Given the description of an element on the screen output the (x, y) to click on. 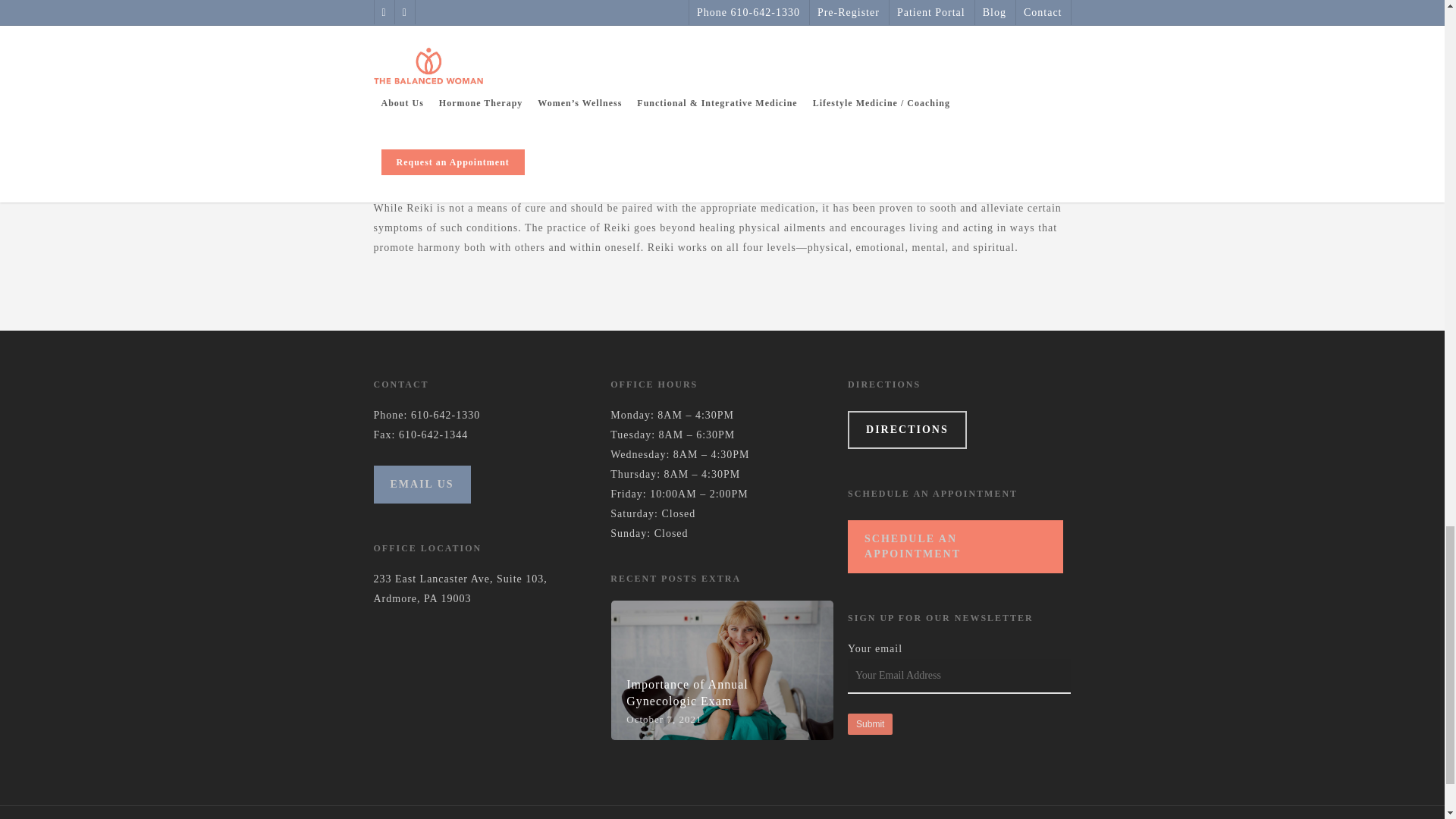
Submit (869, 723)
